Given the description of an element on the screen output the (x, y) to click on. 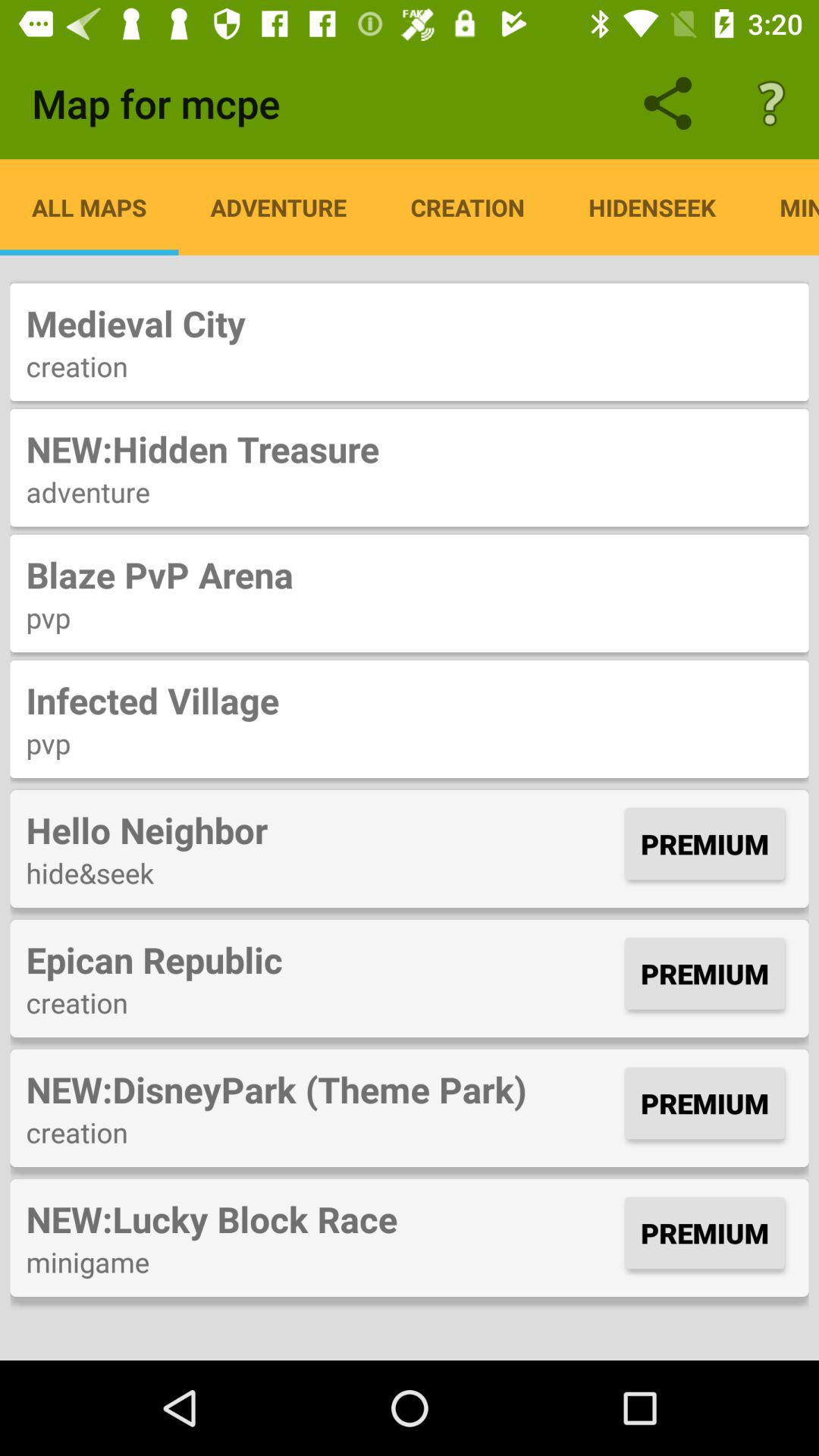
open item next to the premium item (321, 829)
